Given the description of an element on the screen output the (x, y) to click on. 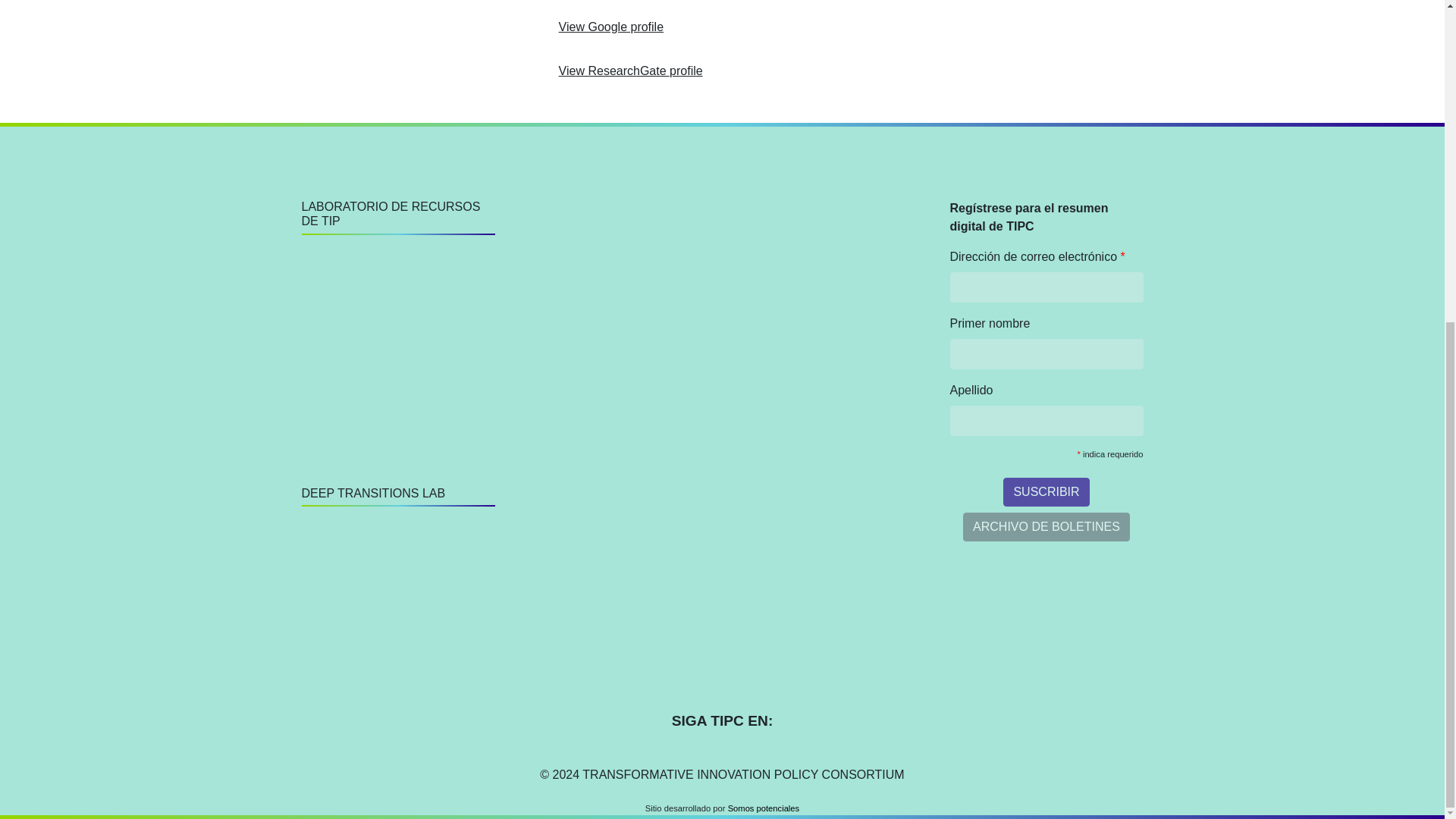
Suscribir (1046, 491)
Suscribir (1046, 491)
Somos potenciales (763, 808)
ARCHIVO DE BOLETINES (1045, 526)
View ResearchGate profile (631, 70)
View Google profile (611, 26)
ARCHIVO DE BOLETINES (1045, 526)
